Given the description of an element on the screen output the (x, y) to click on. 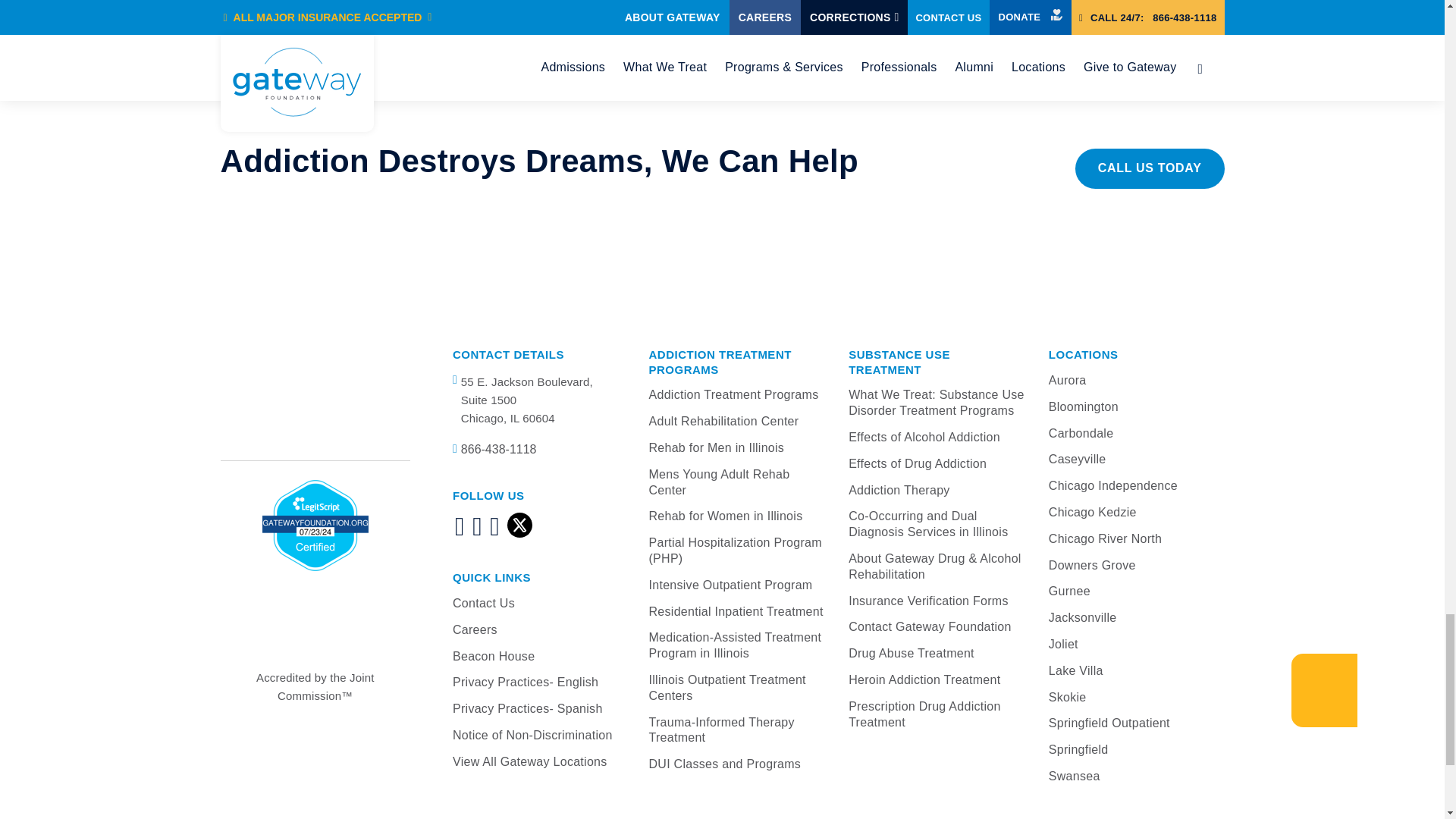
Verify LegitScript Approval (314, 524)
